Given the description of an element on the screen output the (x, y) to click on. 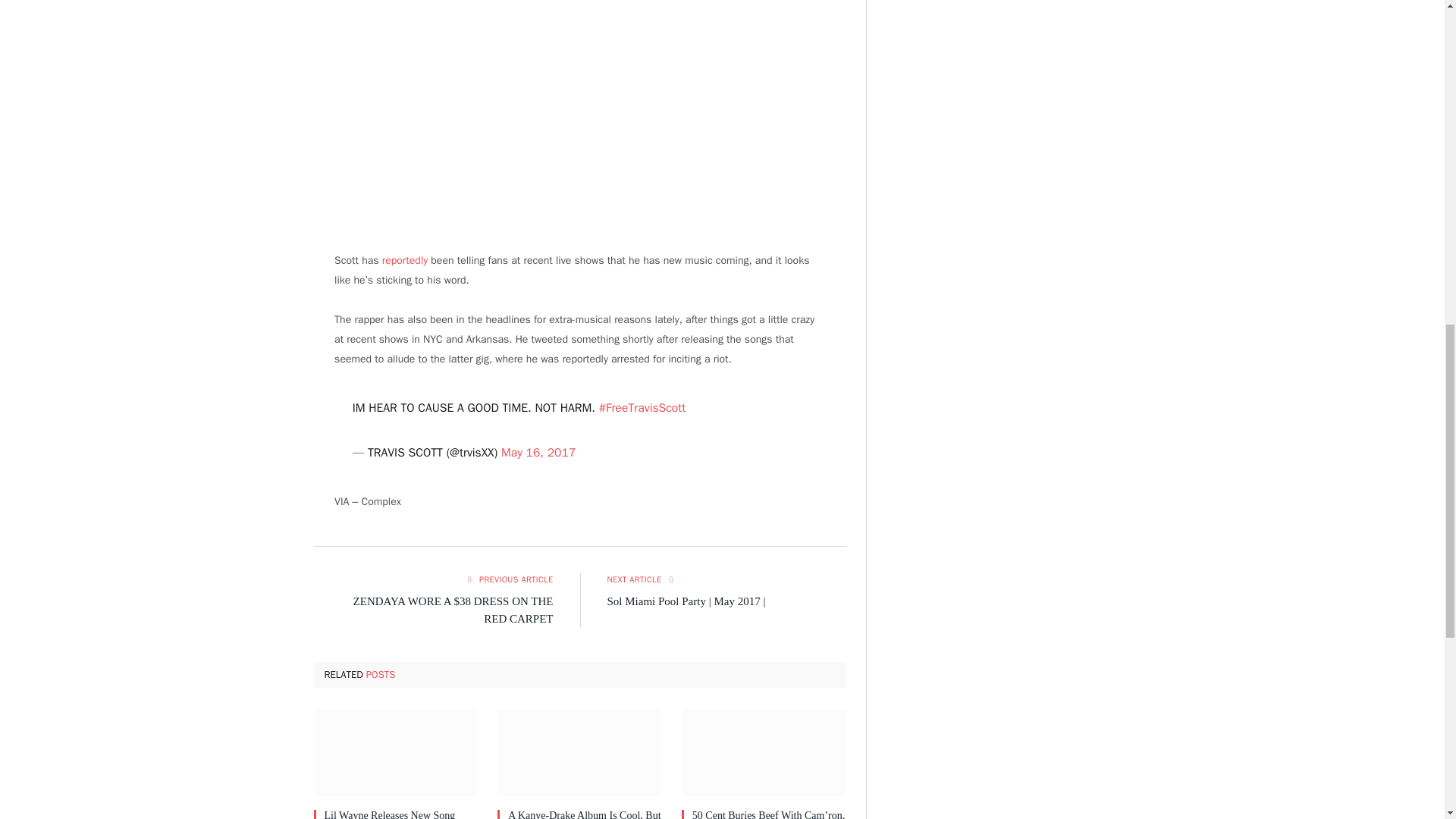
reportedly (404, 259)
May 16, 2017 (537, 452)
